Given the description of an element on the screen output the (x, y) to click on. 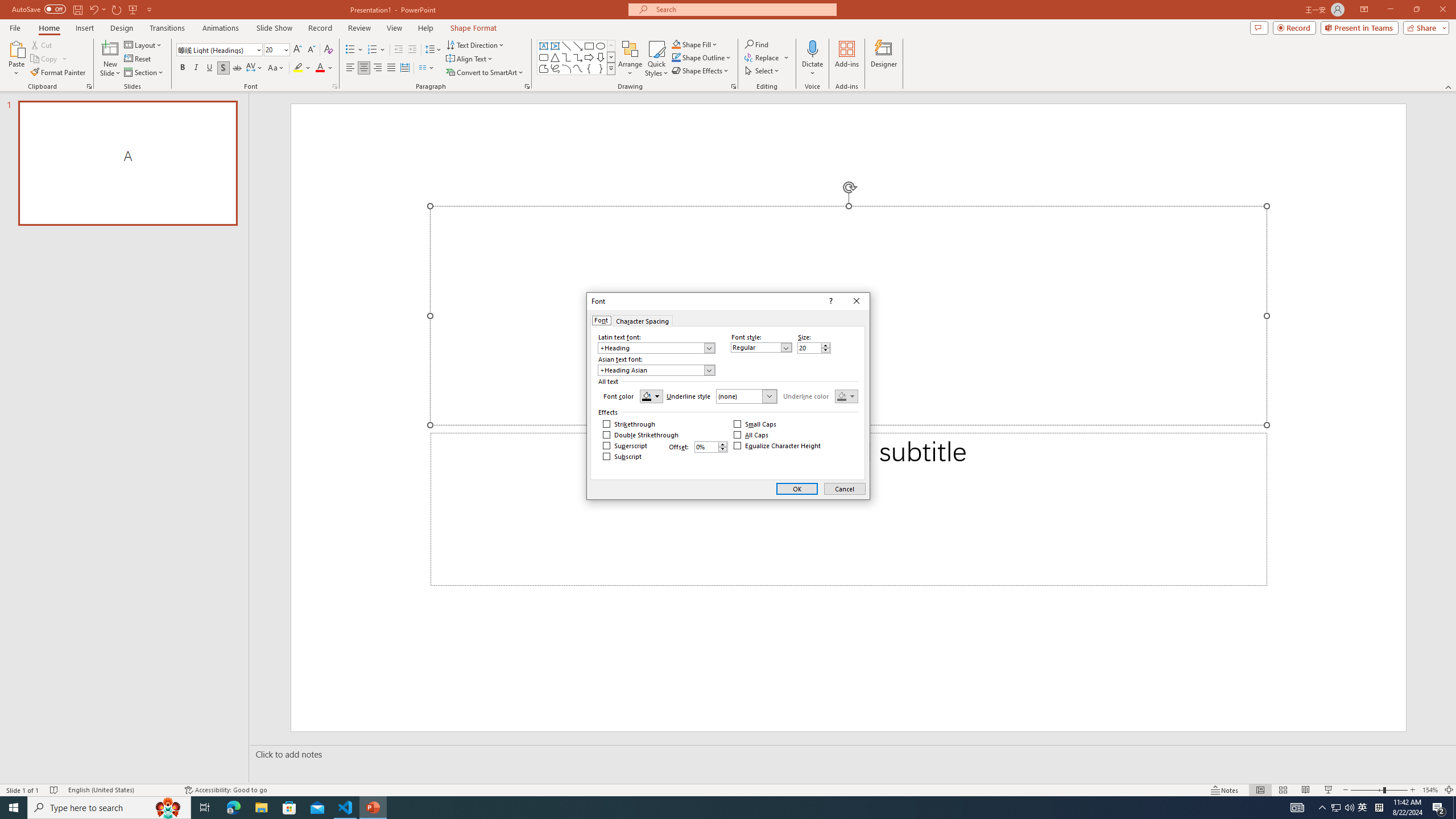
Superscript (624, 445)
Asian text font (651, 370)
Offset (705, 447)
